Given the description of an element on the screen output the (x, y) to click on. 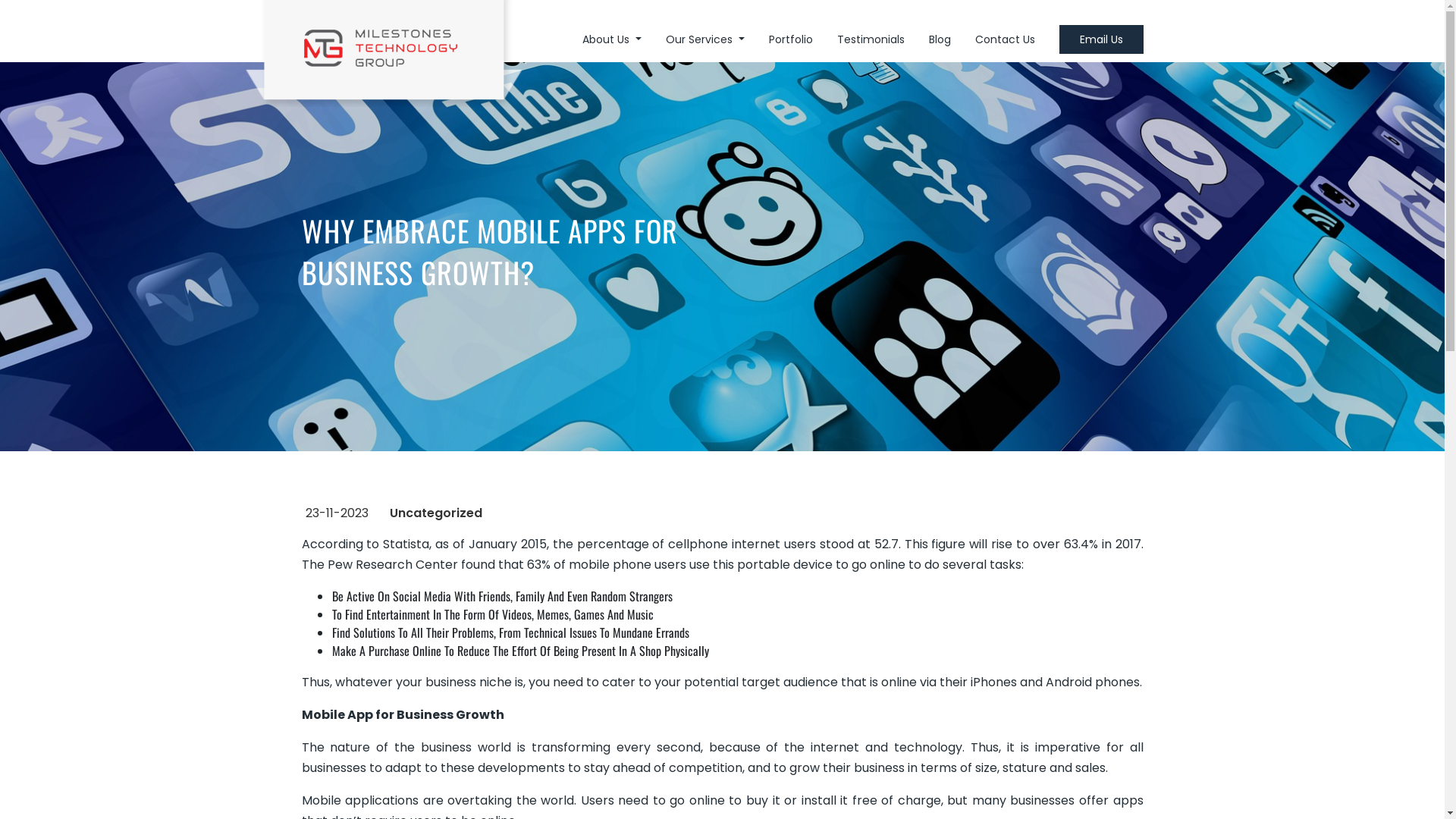
Blog Element type: text (939, 39)
Portfolio Element type: text (790, 39)
Our Services Element type: text (704, 39)
Uncategorized Element type: text (435, 512)
Testimonials Element type: text (870, 39)
About Us Element type: text (611, 39)
Email Us Element type: text (1100, 39)
Contact Us Element type: text (1005, 39)
